Given the description of an element on the screen output the (x, y) to click on. 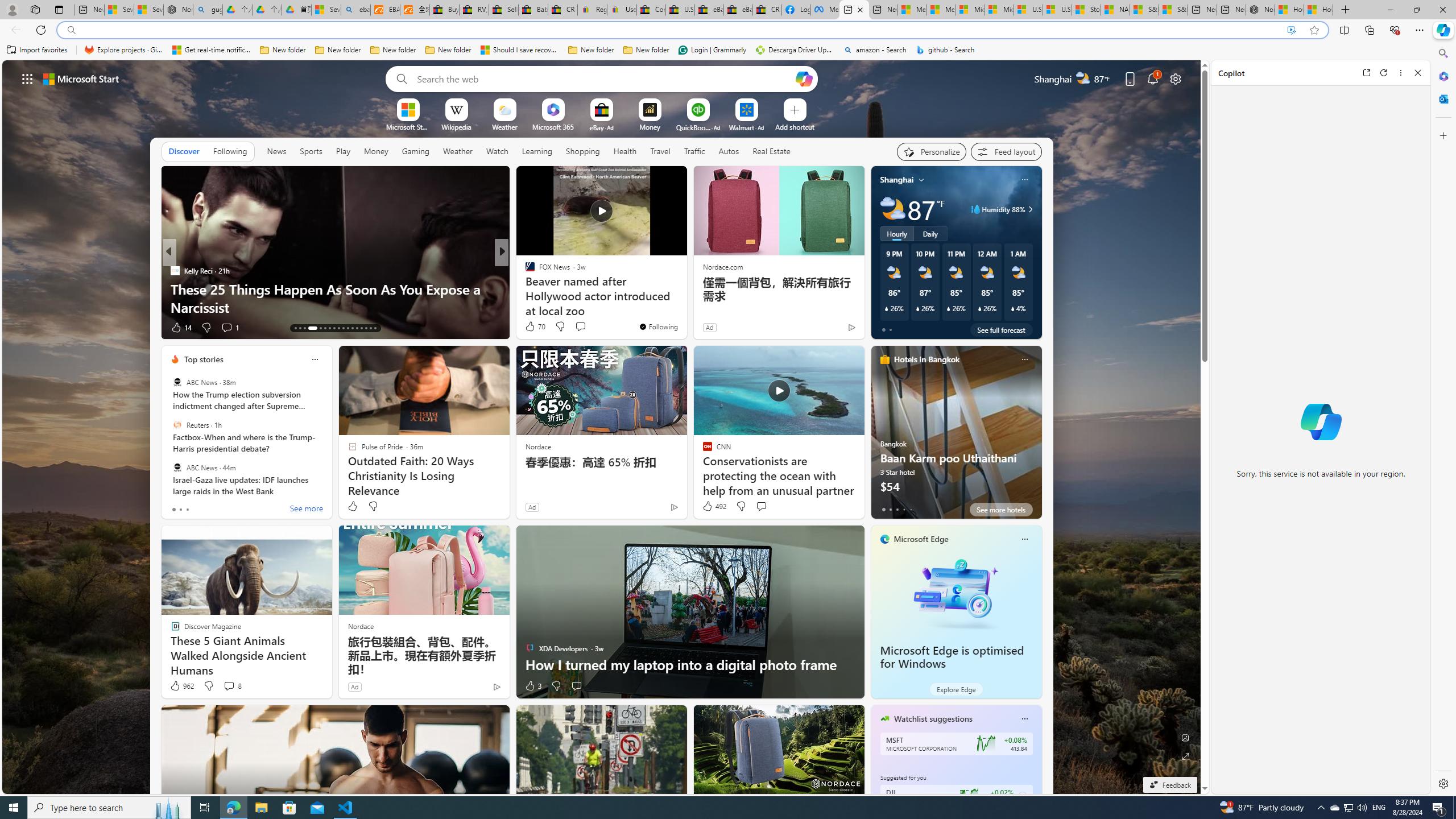
3 Like (532, 685)
AutomationID: tab-19 (329, 328)
AutomationID: tab-21 (338, 328)
SlashGear (524, 288)
AutomationID: tab-18 (324, 328)
View comments 6 Comment (580, 327)
Descarga Driver Updater (794, 49)
